Given the description of an element on the screen output the (x, y) to click on. 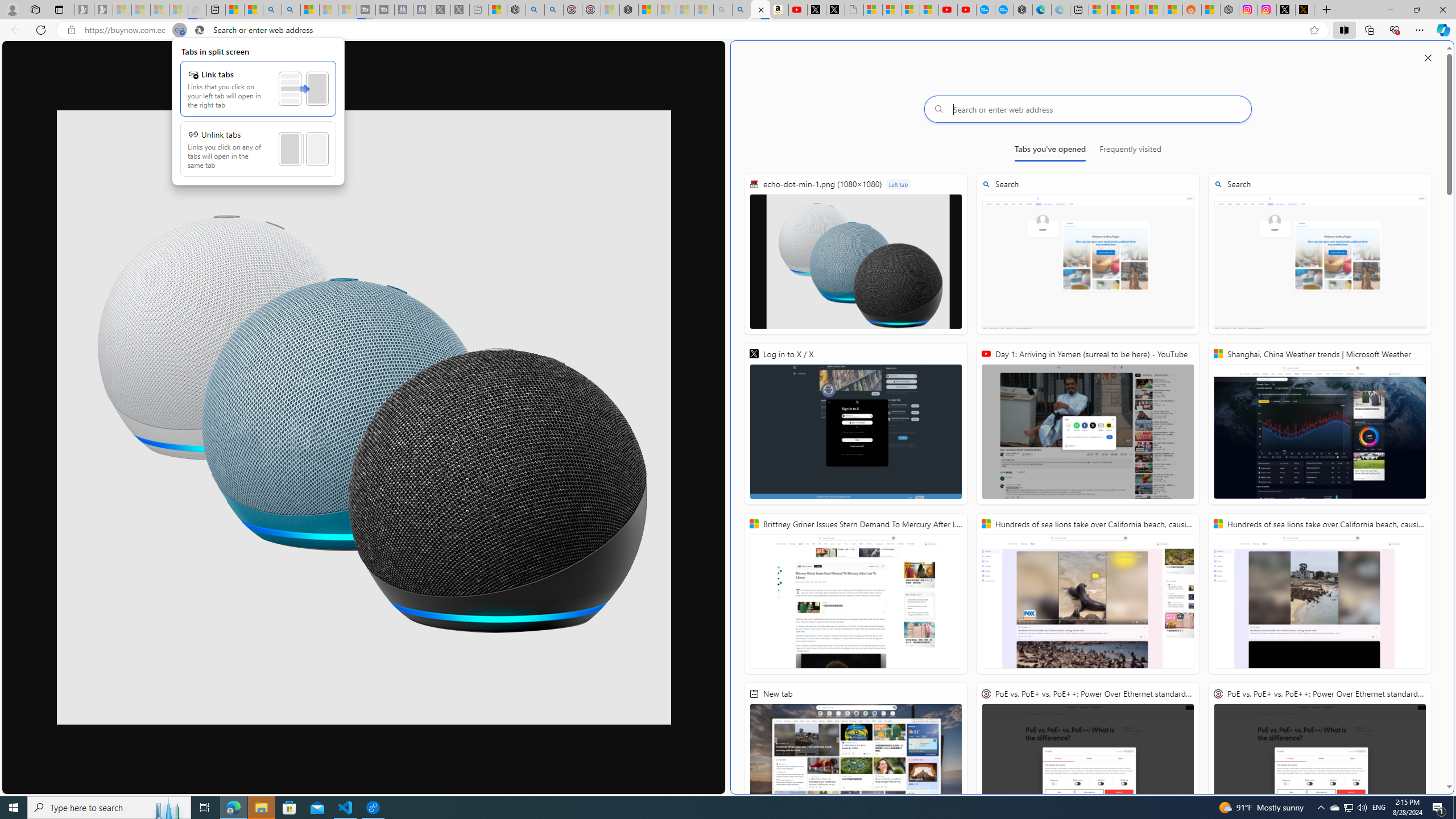
Search or enter web address (1088, 108)
Search icon (199, 29)
Shanghai, China weather forecast | Microsoft Weather (1116, 9)
Microsoft Start - Sleeping (328, 9)
Nordace - Nordace Siena Is Not An Ordinary Backpack (628, 9)
